Given the description of an element on the screen output the (x, y) to click on. 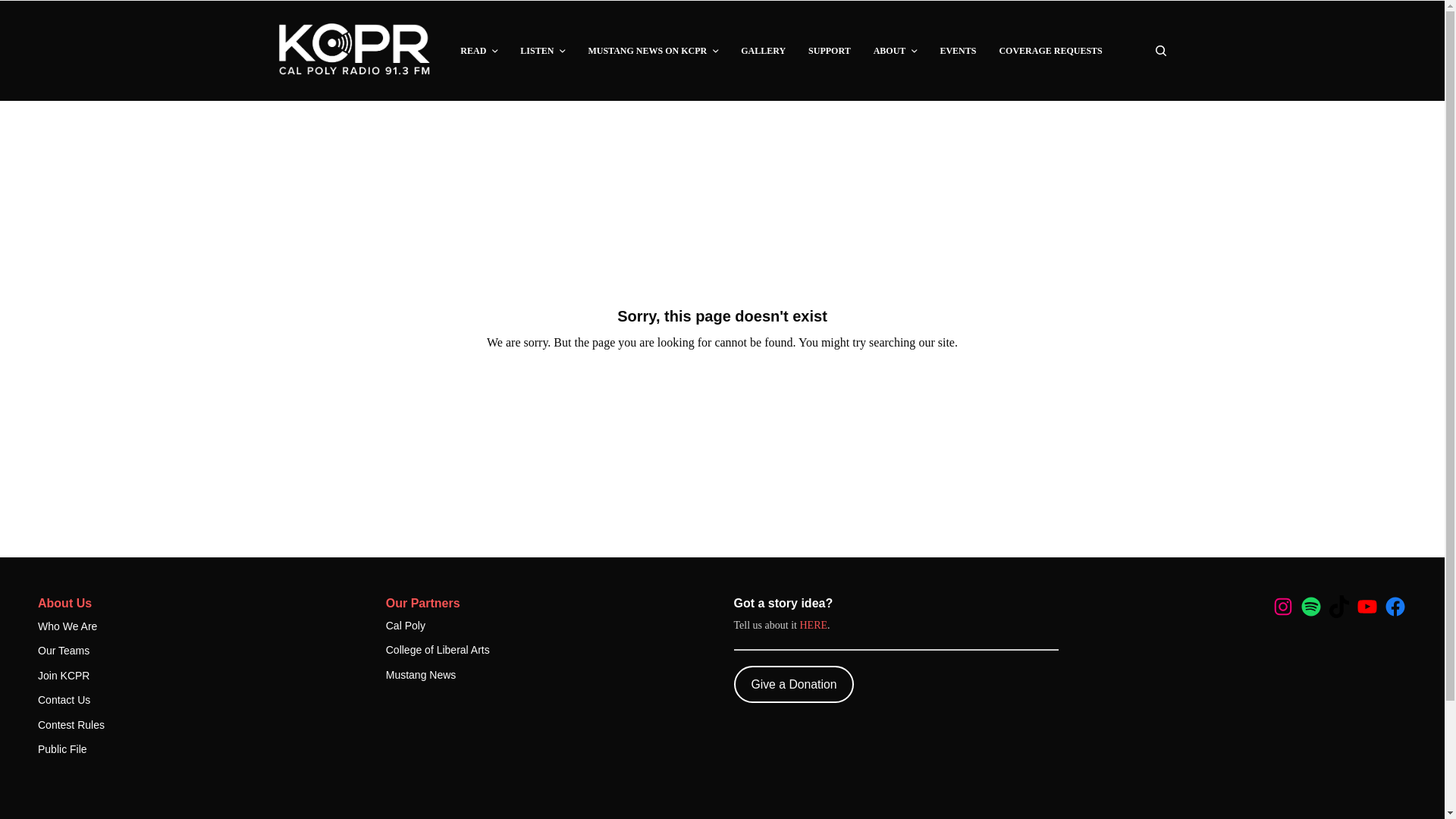
KCPR (356, 50)
